Given the description of an element on the screen output the (x, y) to click on. 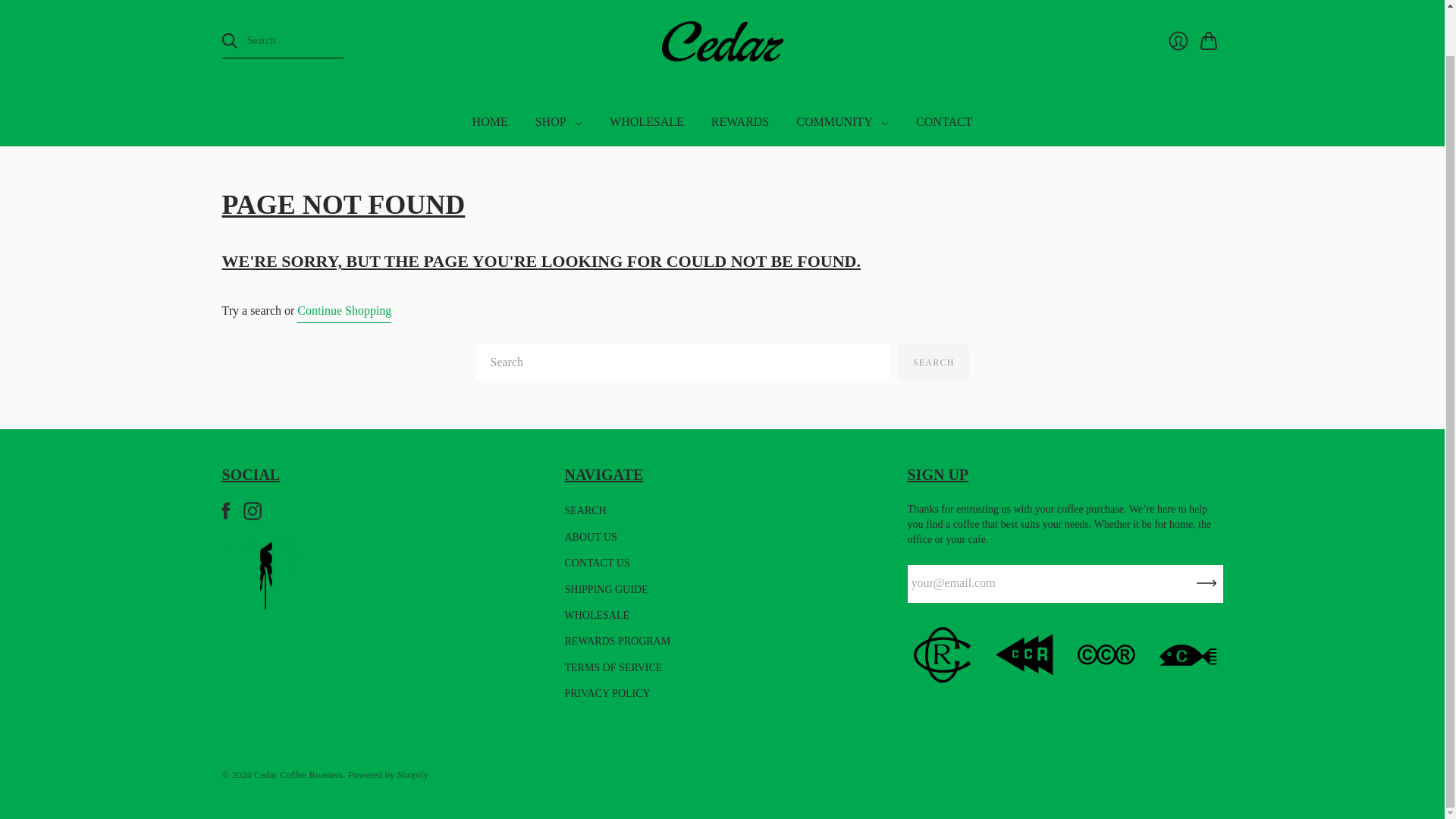
REWARDS (739, 121)
Search (933, 361)
Login (1177, 40)
CONTACT (944, 121)
Cart (1210, 40)
WHOLESALE (645, 121)
Search (933, 361)
HOME (489, 121)
